Given the description of an element on the screen output the (x, y) to click on. 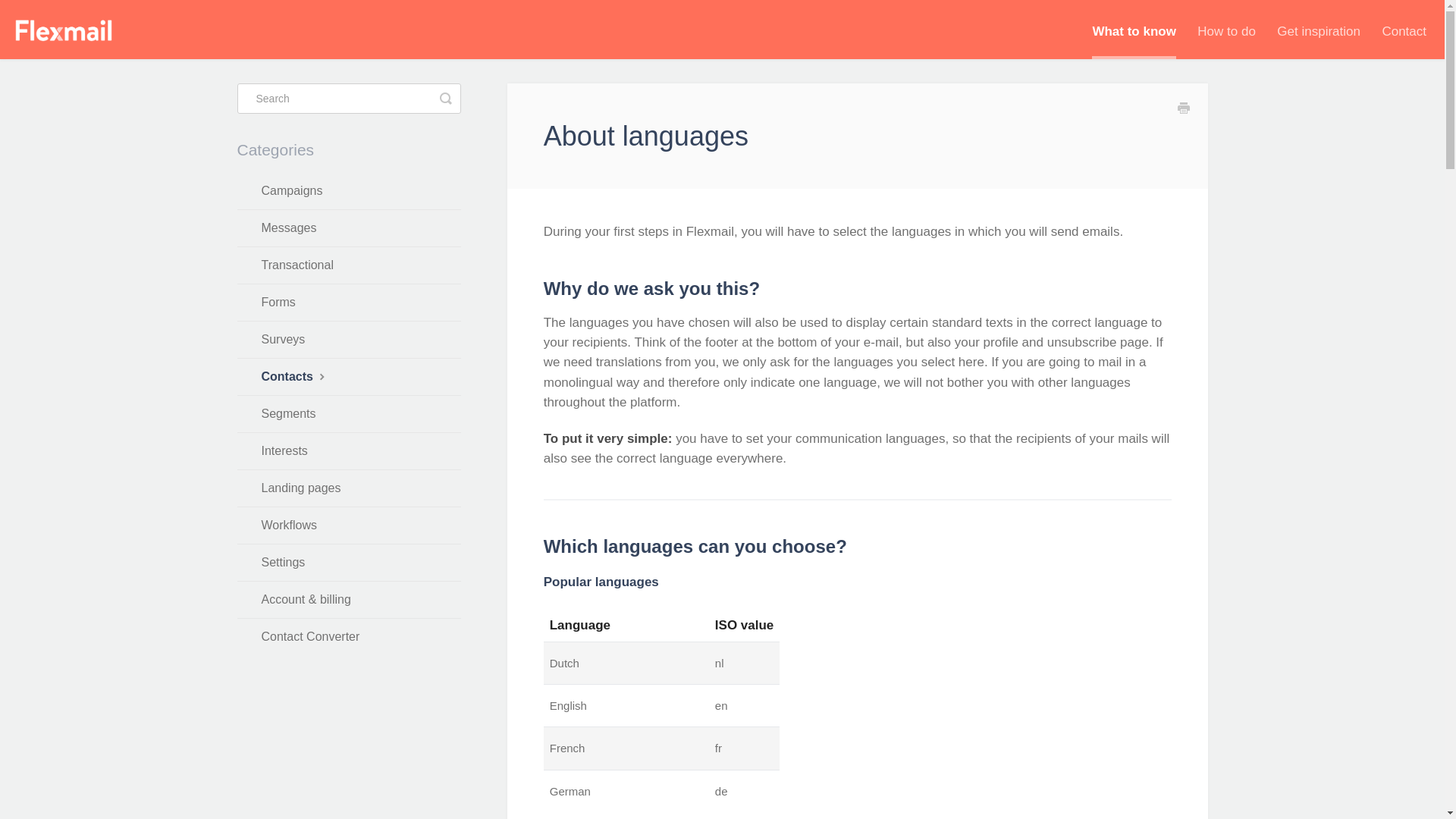
Campaigns (347, 190)
Contacts (347, 376)
Contact Converter (347, 637)
Surveys (347, 339)
Landing pages (347, 488)
How to do (1225, 31)
Forms (347, 302)
Get inspiration (1317, 31)
Transactional (347, 265)
search-query (347, 98)
Messages (347, 227)
Interests (347, 451)
What to know (1133, 31)
Workflows (347, 524)
Segments (347, 413)
